Given the description of an element on the screen output the (x, y) to click on. 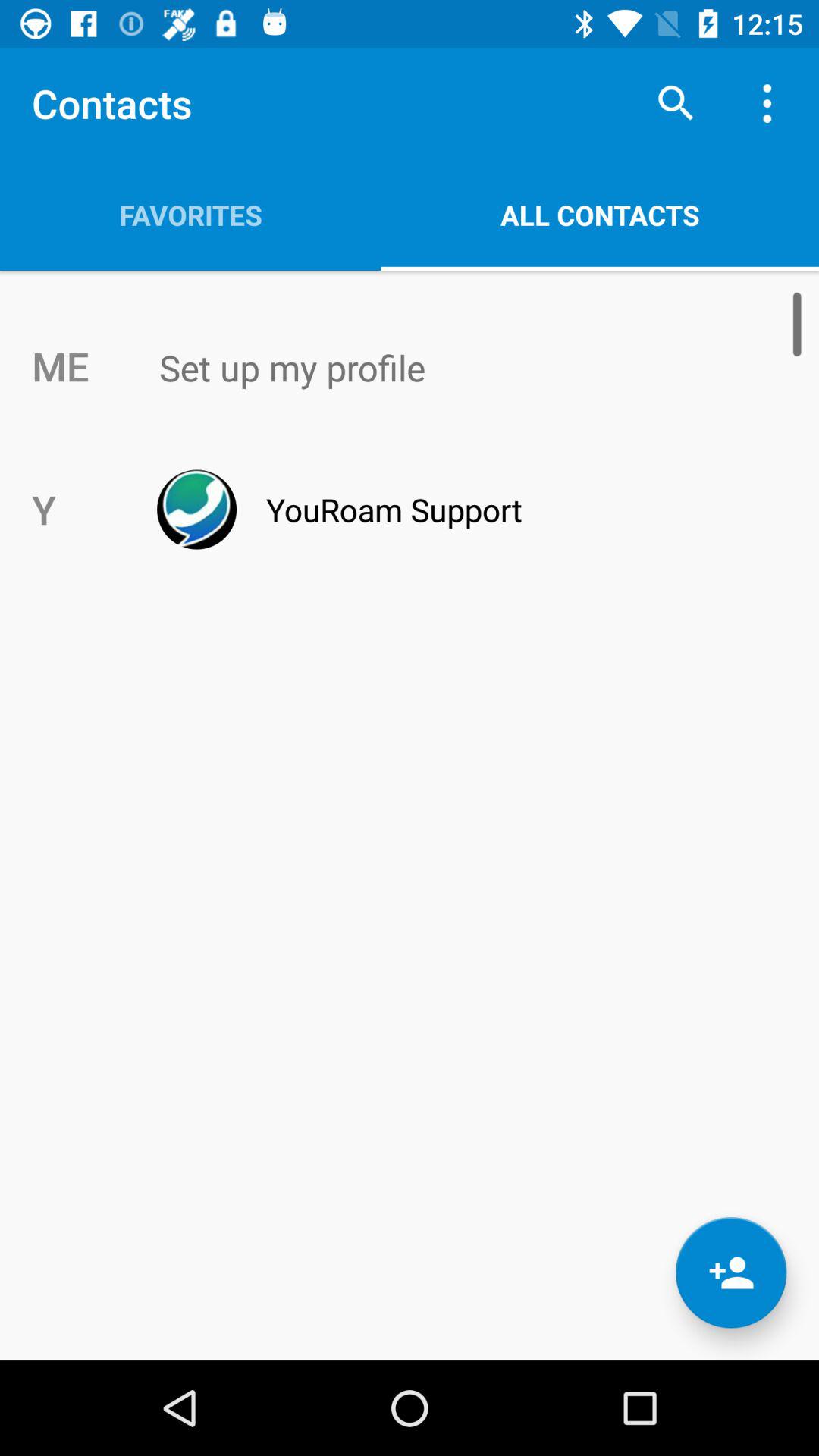
click the item above the me app (190, 214)
